Given the description of an element on the screen output the (x, y) to click on. 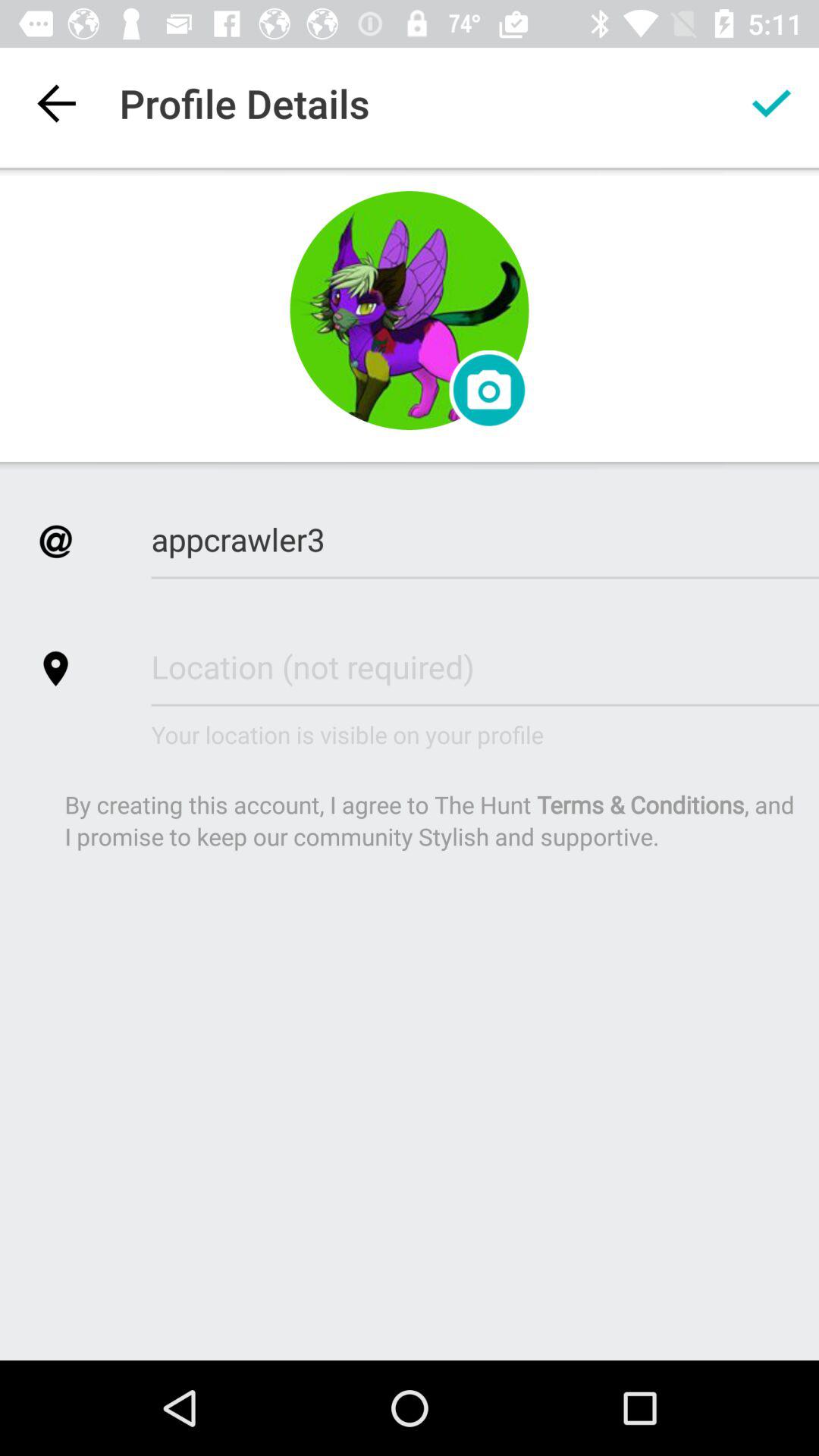
enter the location information (485, 666)
